Given the description of an element on the screen output the (x, y) to click on. 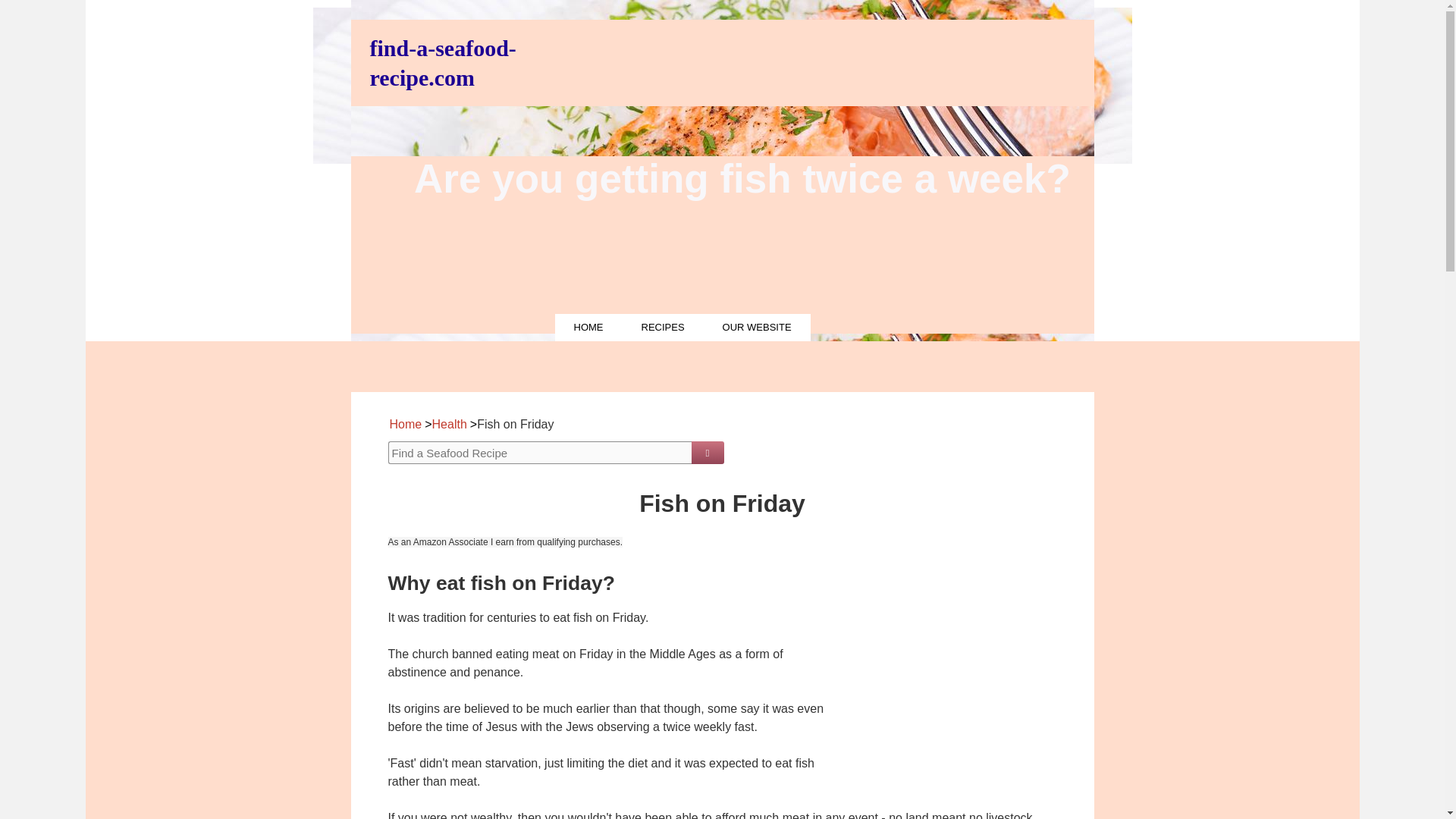
Home (406, 423)
find-a-seafood-recipe.com (442, 63)
HOME (588, 327)
Health (449, 423)
fish chips and peas (960, 664)
